Given the description of an element on the screen output the (x, y) to click on. 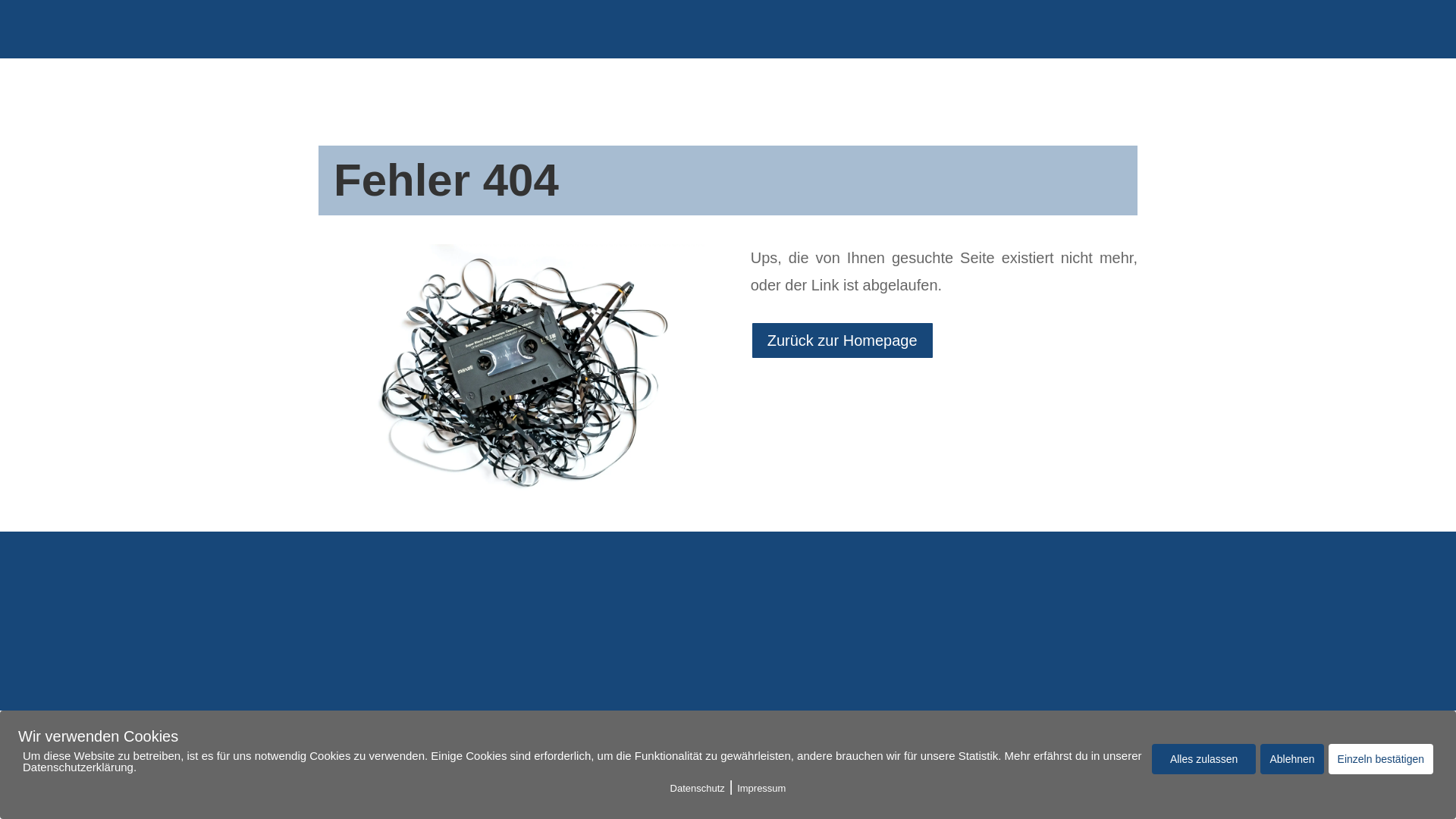
Datenschutz Element type: text (697, 787)
Ablehnen Element type: text (1291, 758)
Error Element type: hover (511, 373)
Alles zulassen Element type: text (1203, 758)
Impressum Element type: text (761, 787)
